Given the description of an element on the screen output the (x, y) to click on. 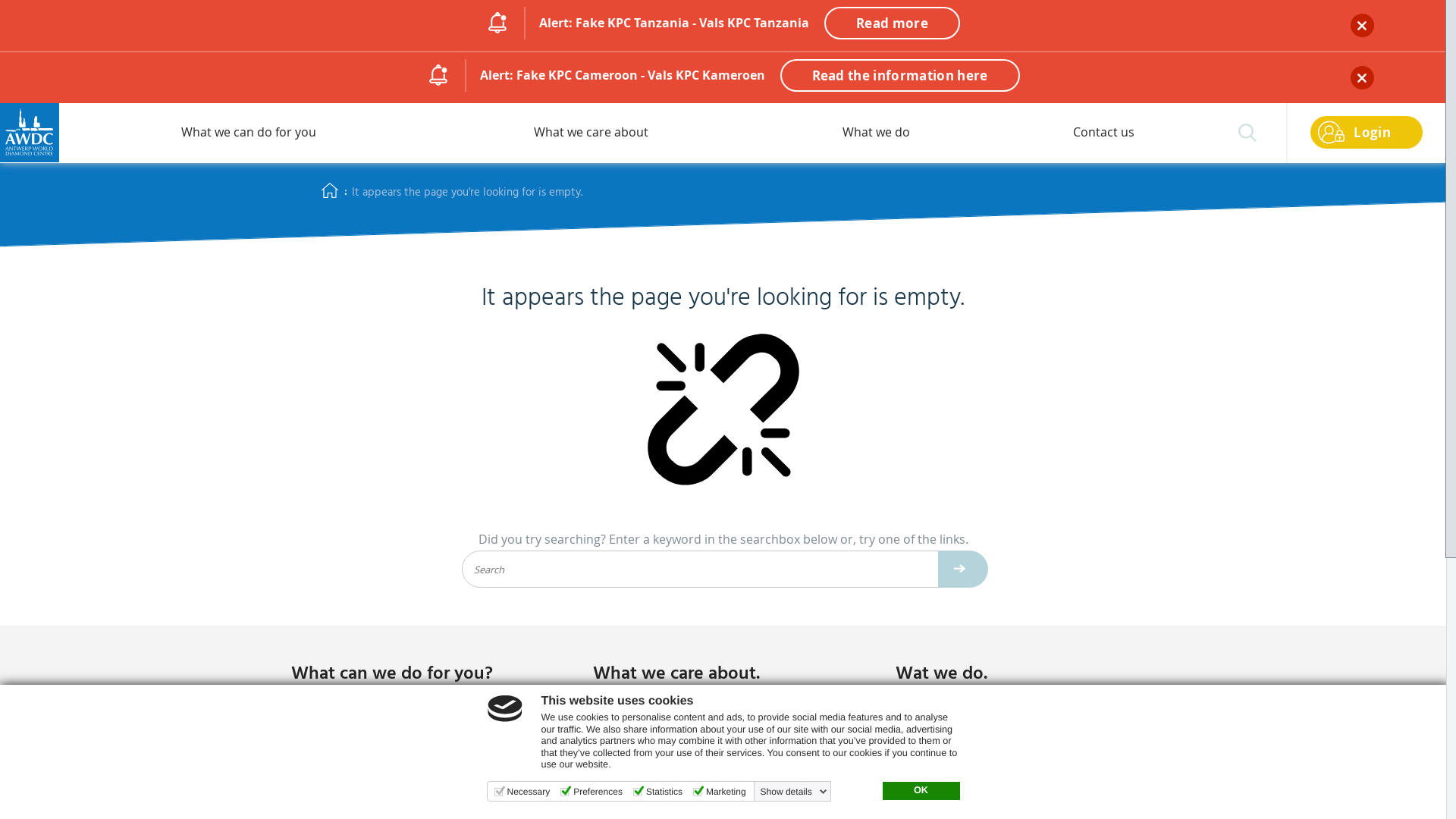
Read the information here Element type: text (899, 75)
Jobs Element type: text (420, 752)
What we cando for you Element type: text (249, 132)
OK Element type: text (921, 790)
What wecare about Element type: text (591, 132)
Calendar Element type: text (1024, 720)
Antwerp World Diamond Centre Element type: hover (29, 132)
News Element type: text (1024, 752)
Show details Element type: text (793, 791)
Whatwe do Element type: text (876, 132)
Security Element type: text (722, 720)
Starting a business in Antwerp Element type: text (420, 784)
Read more Element type: text (892, 22)
Meet the team Element type: text (1024, 784)
Diamond Office Element type: text (420, 720)
Its in our DNA Element type: text (722, 752)
Know your customer Element type: text (722, 784)
Contactus Element type: text (1103, 132)
Login Element type: text (1366, 132)
